Given the description of an element on the screen output the (x, y) to click on. 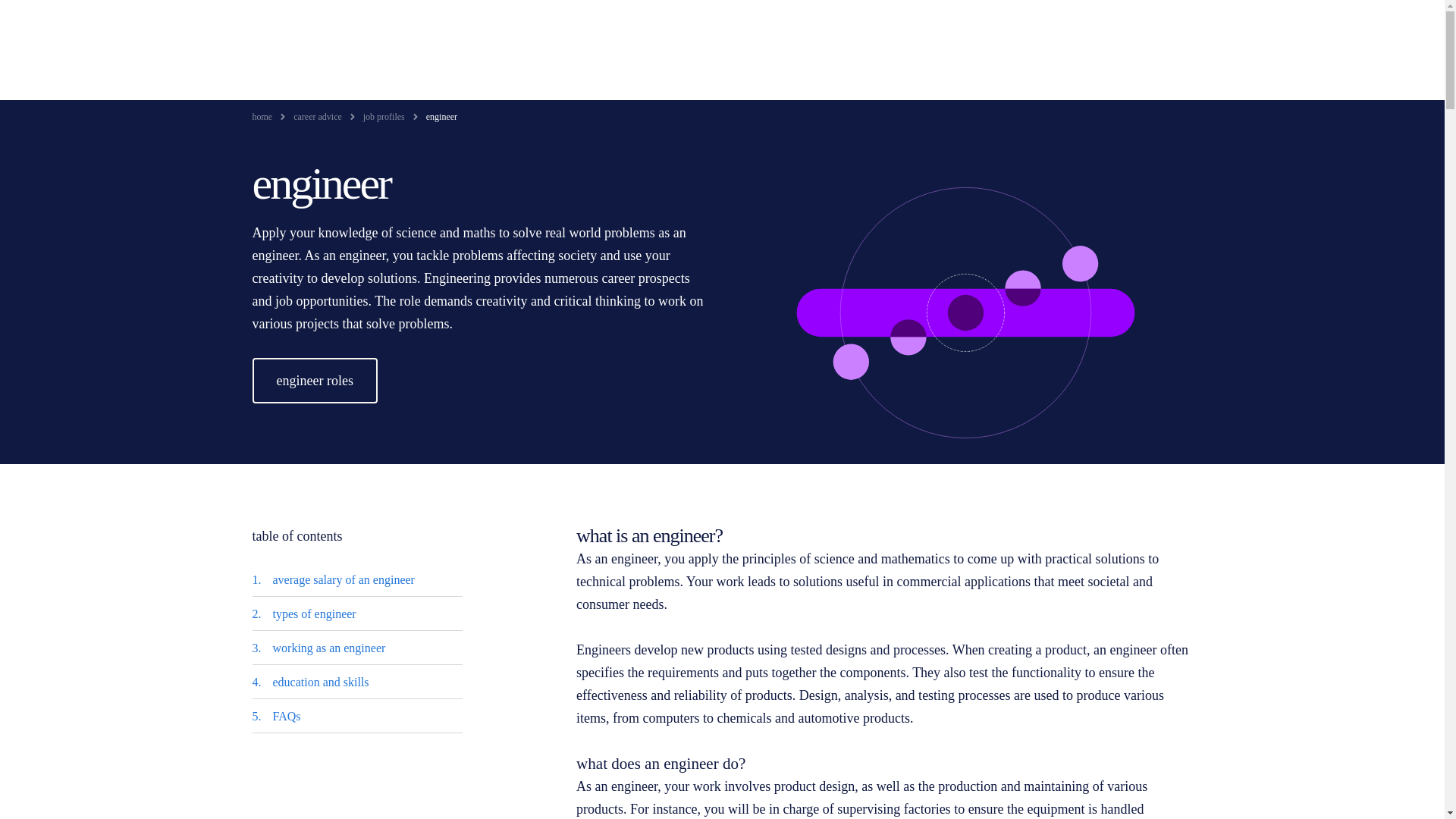
engineer roles (314, 380)
FAQs (287, 716)
working as an engineer (329, 647)
average salary of an engineer (343, 579)
education and skills (321, 681)
types of engineer (314, 613)
